Given the description of an element on the screen output the (x, y) to click on. 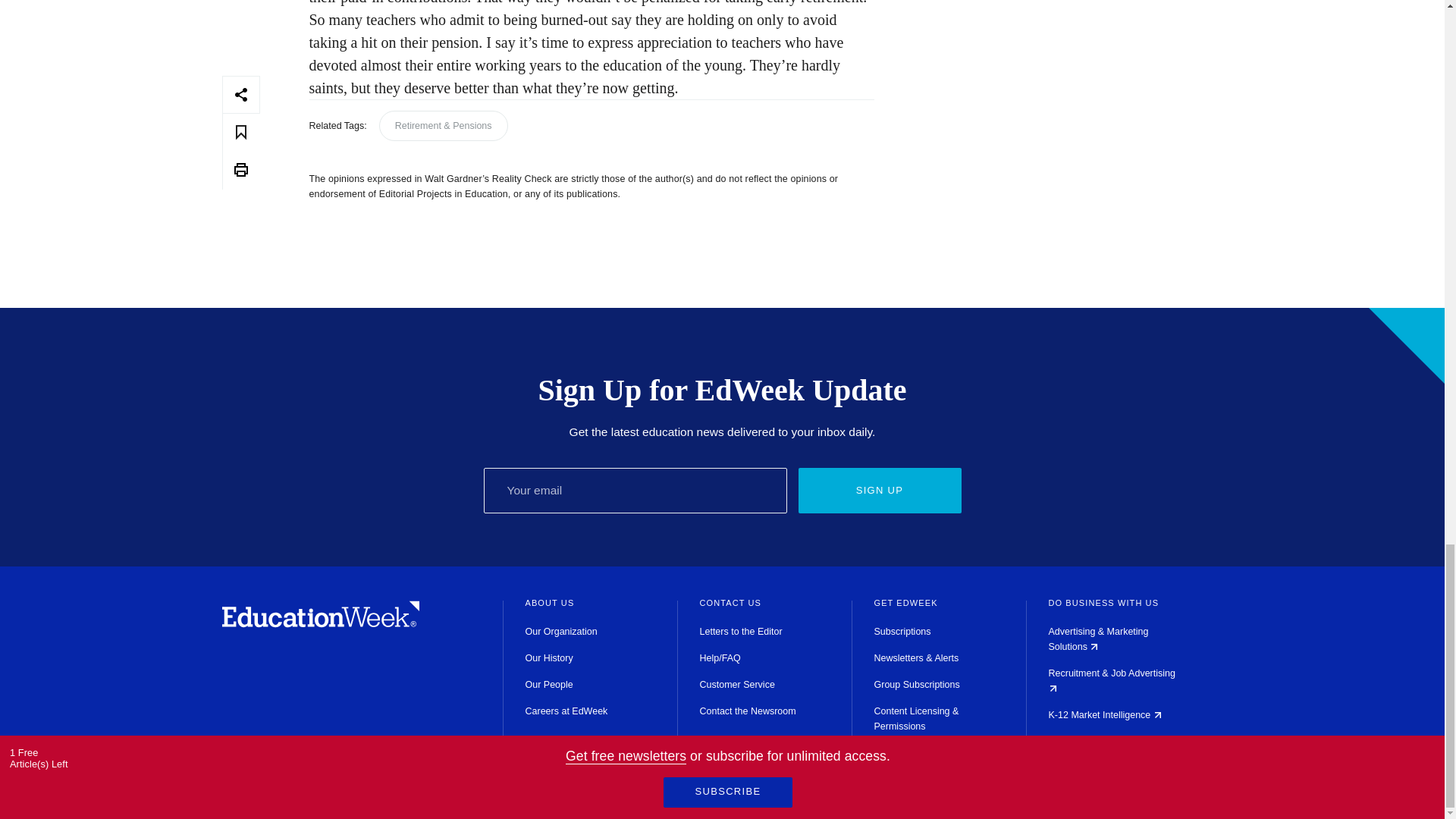
Homepage (320, 623)
